Given the description of an element on the screen output the (x, y) to click on. 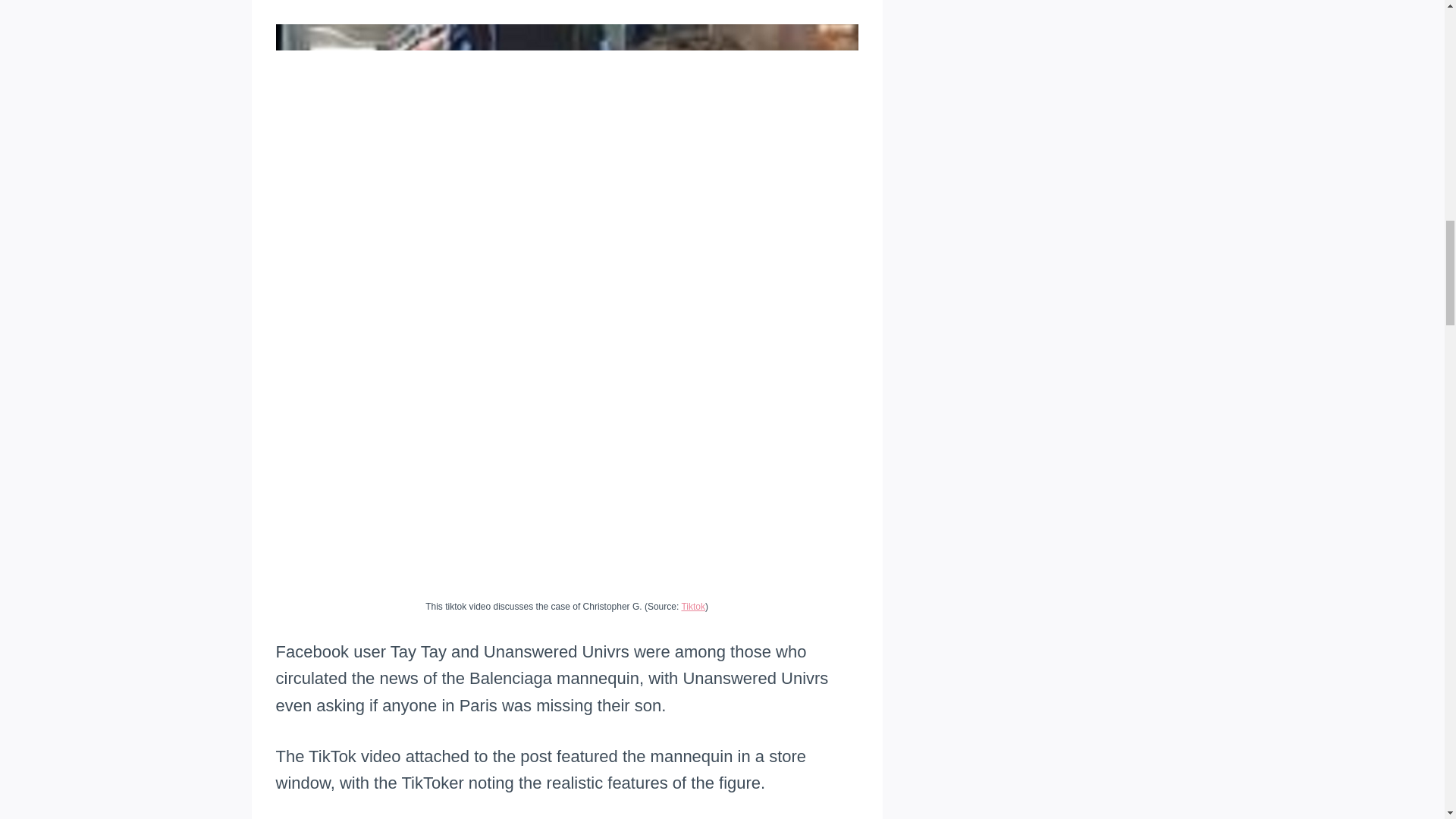
Tiktok (692, 606)
